Given the description of an element on the screen output the (x, y) to click on. 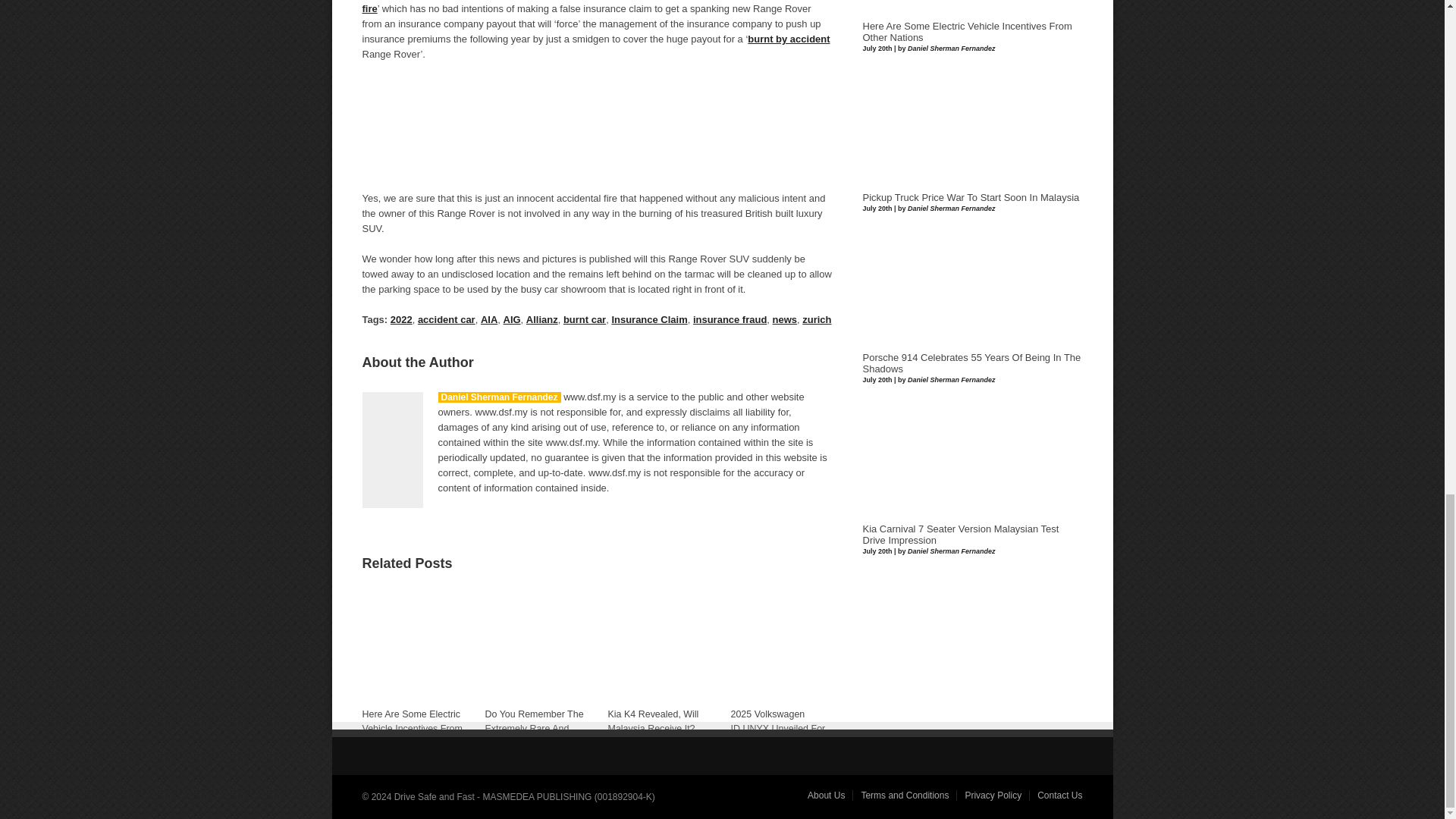
news (784, 319)
zurich (816, 319)
Insurance Claim (649, 319)
Kia K4 Revealed, Will Malaysia Receive It? (659, 701)
Here Are Some Electric Vehicle Incentives From Other Nations (413, 701)
accident car (446, 319)
Kia K4 Revealed, Will Malaysia Receive It? (653, 721)
insurance fraud (730, 319)
burnt by accident (788, 39)
burnt car (584, 319)
AIG (512, 319)
AIA (488, 319)
Daniel Sherman Fernandez (499, 397)
Porsche 914 Celebrates 55 Years Of Being In The Shadows (972, 363)
